Given the description of an element on the screen output the (x, y) to click on. 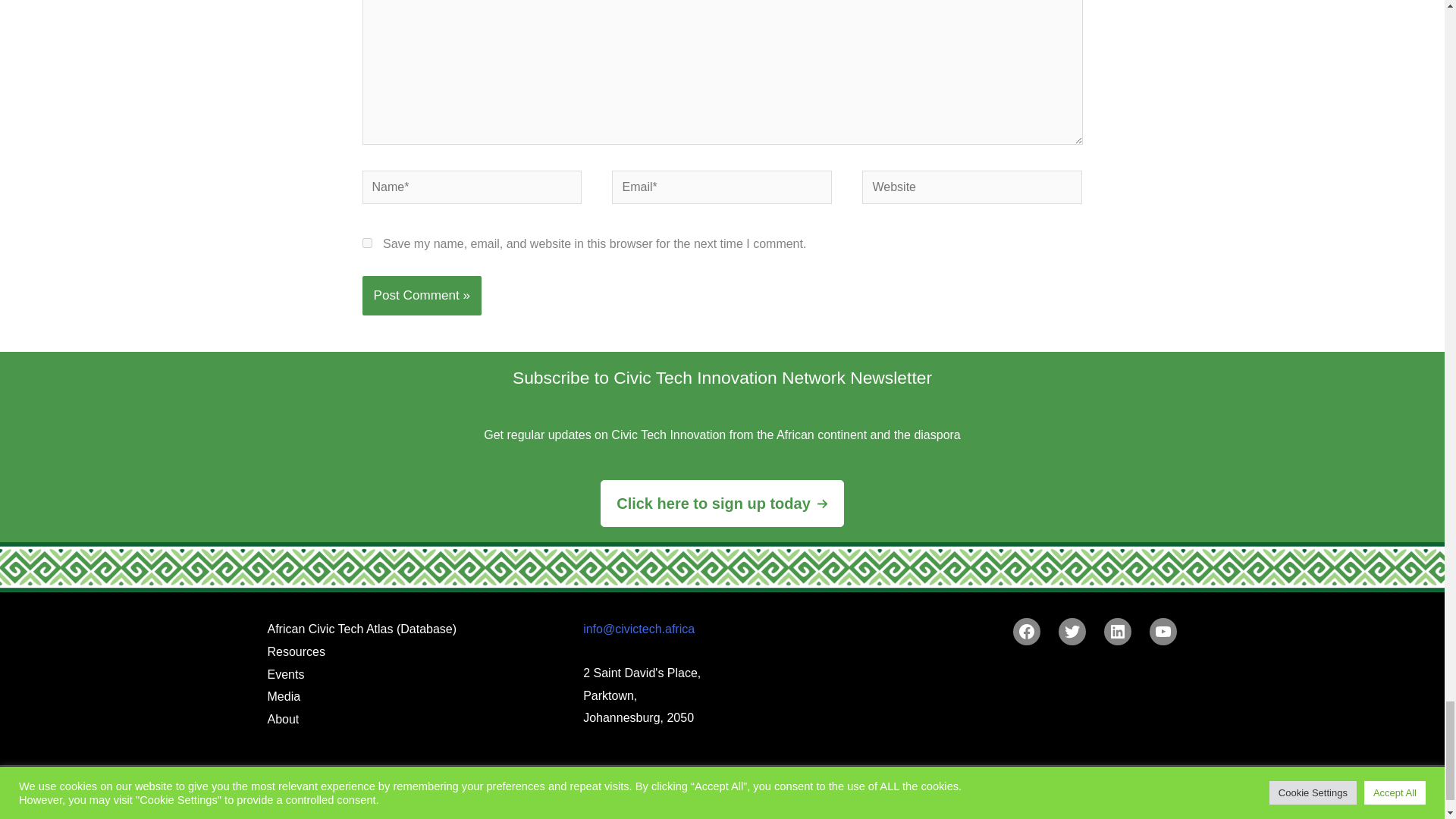
yes (367, 243)
